Given the description of an element on the screen output the (x, y) to click on. 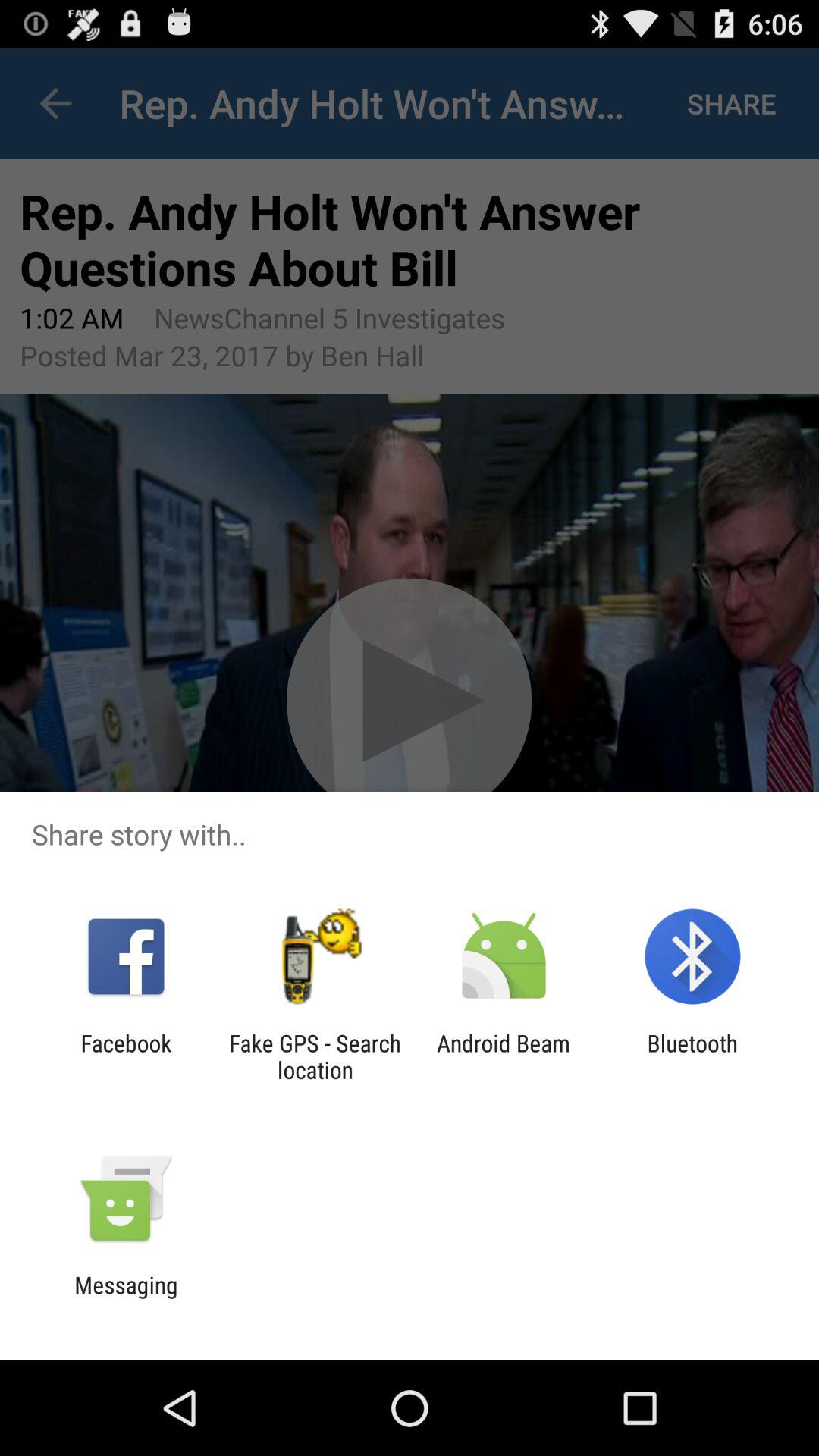
choose the app to the right of the facebook (314, 1056)
